Given the description of an element on the screen output the (x, y) to click on. 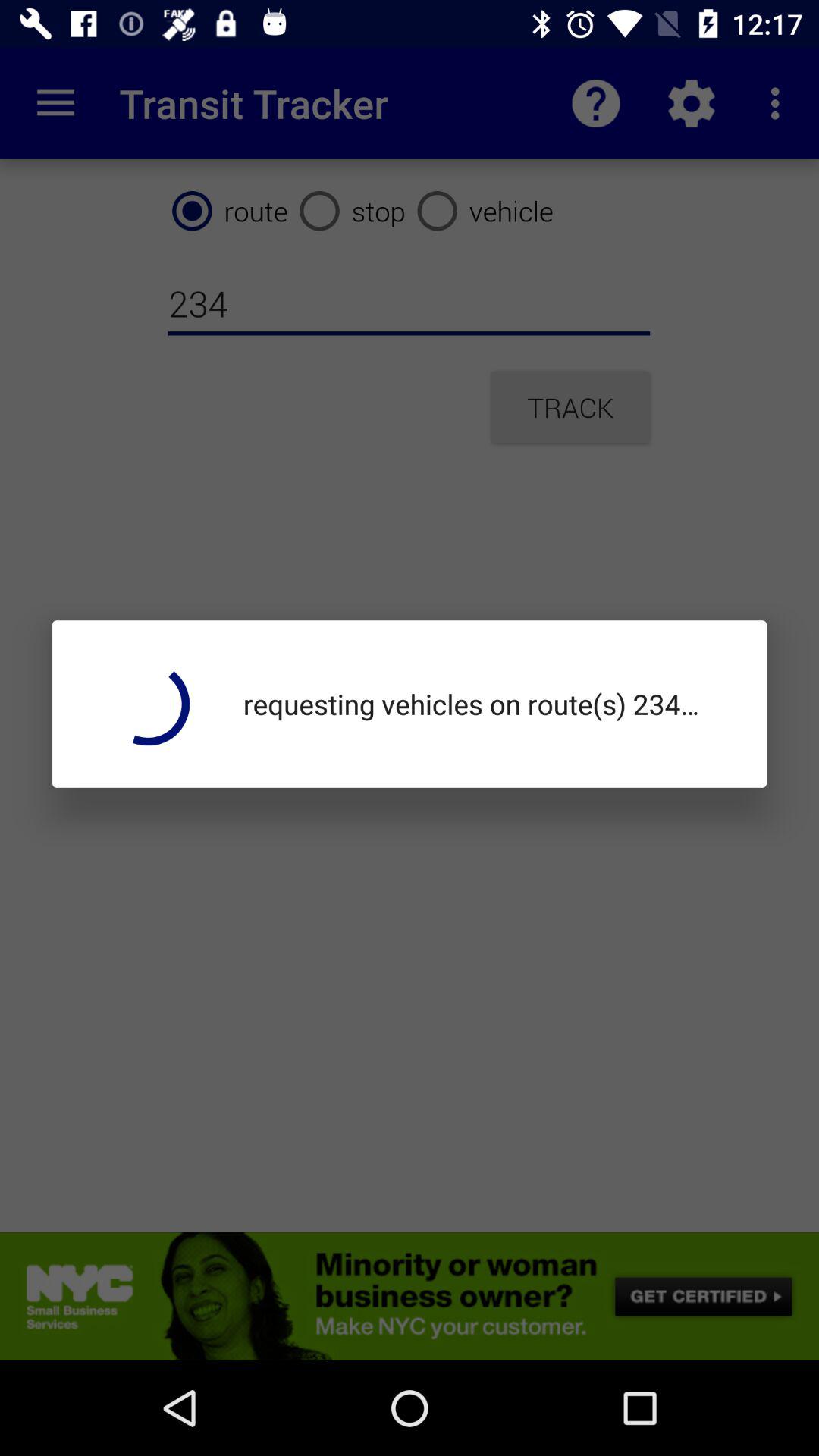
open advert (409, 1295)
